Given the description of an element on the screen output the (x, y) to click on. 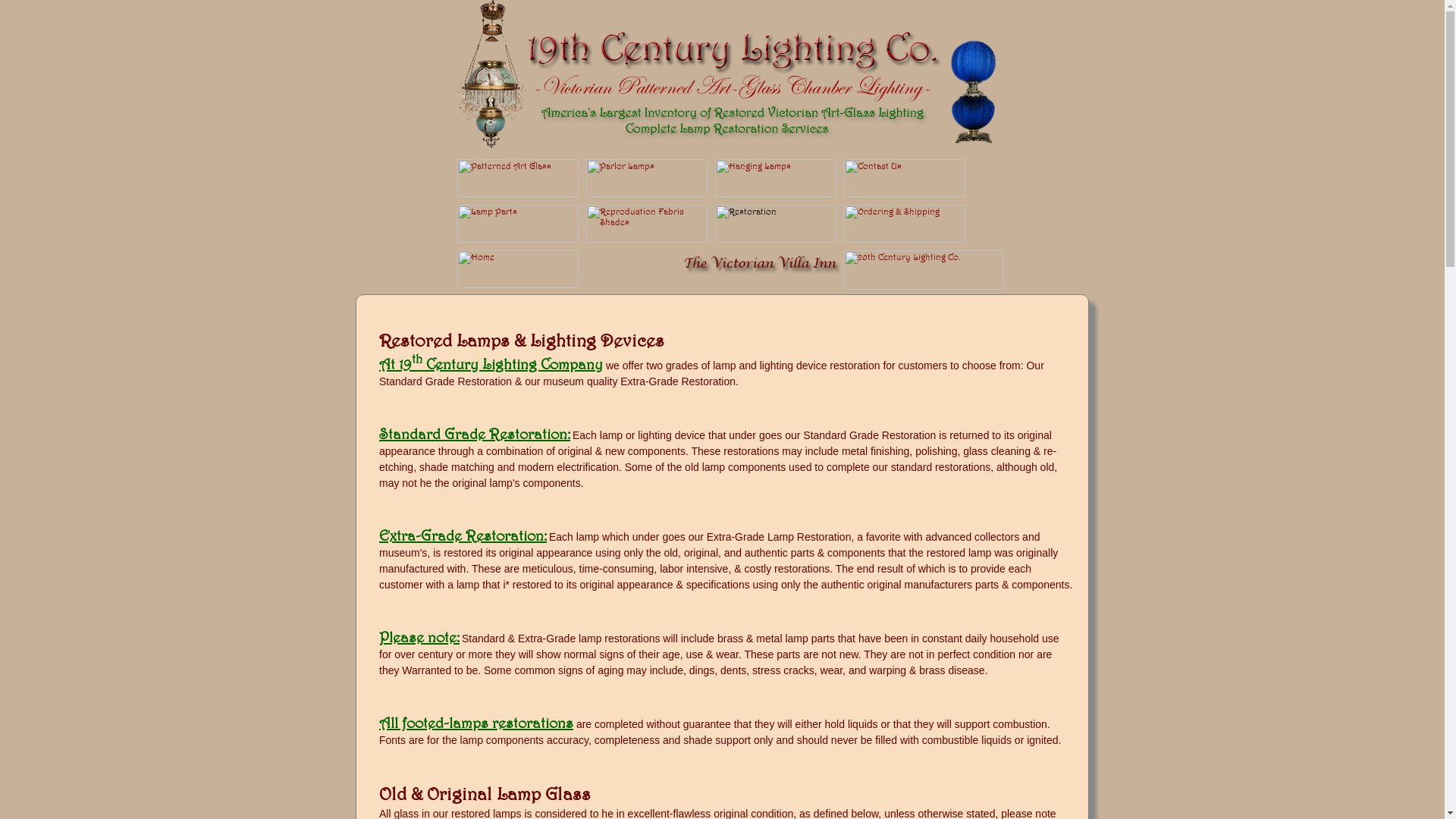
Home Element type: hover (516, 284)
Lamp Parts Element type: hover (516, 239)
Parlor Table Lamps Element type: hover (645, 193)
Hanging Lamps Element type: hover (774, 193)
Patterned Art Glass Lamps Element type: hover (516, 193)
The Victorian Villa Inn Element type: hover (763, 286)
Reproduction Fabric Shades Element type: hover (645, 239)
Ordering & Shipping Element type: hover (903, 239)
20th Century Lighting Company Element type: hover (922, 286)
Contact Us Element type: hover (903, 193)
